Given the description of an element on the screen output the (x, y) to click on. 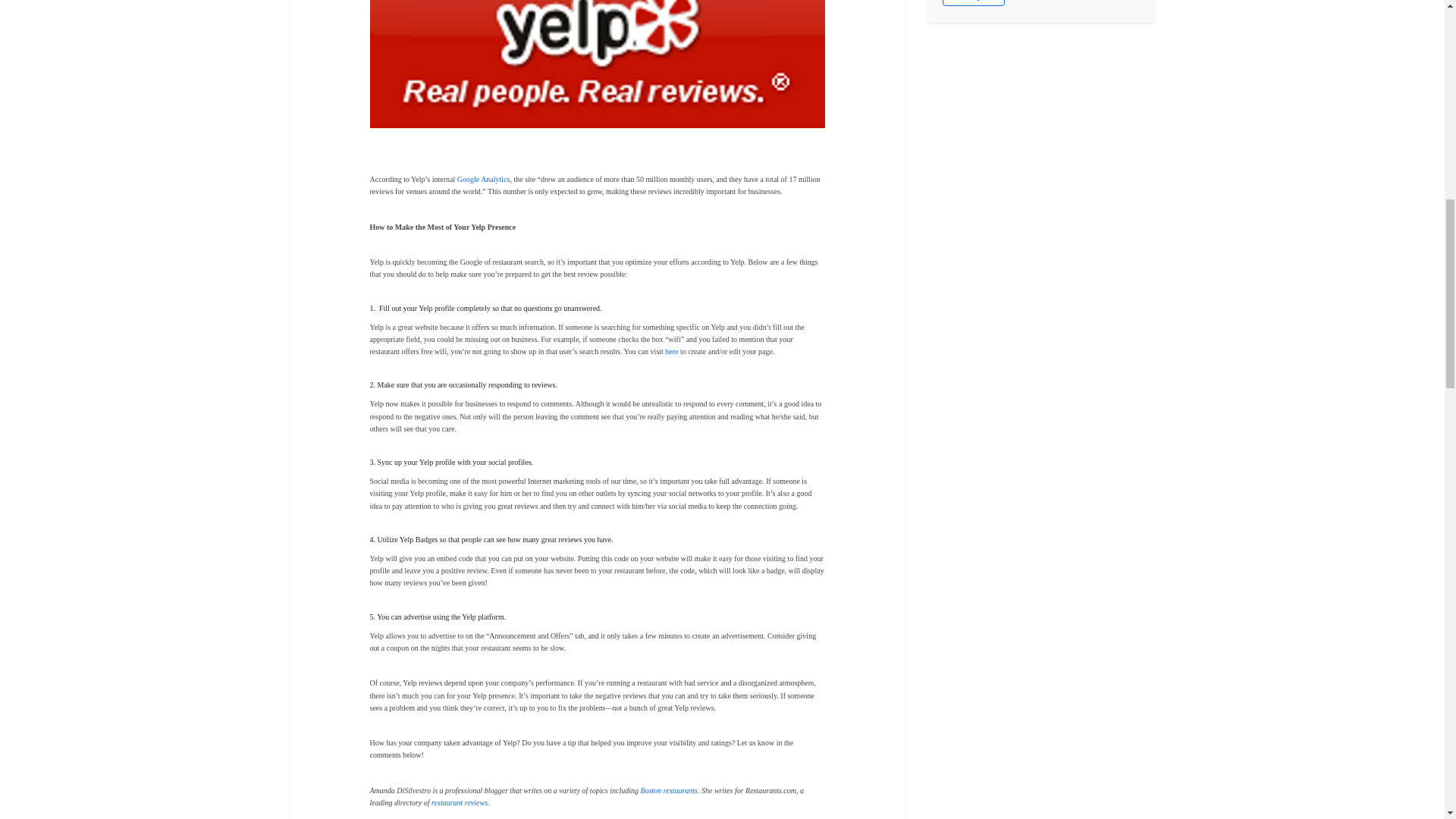
yelp (597, 63)
